Given the description of an element on the screen output the (x, y) to click on. 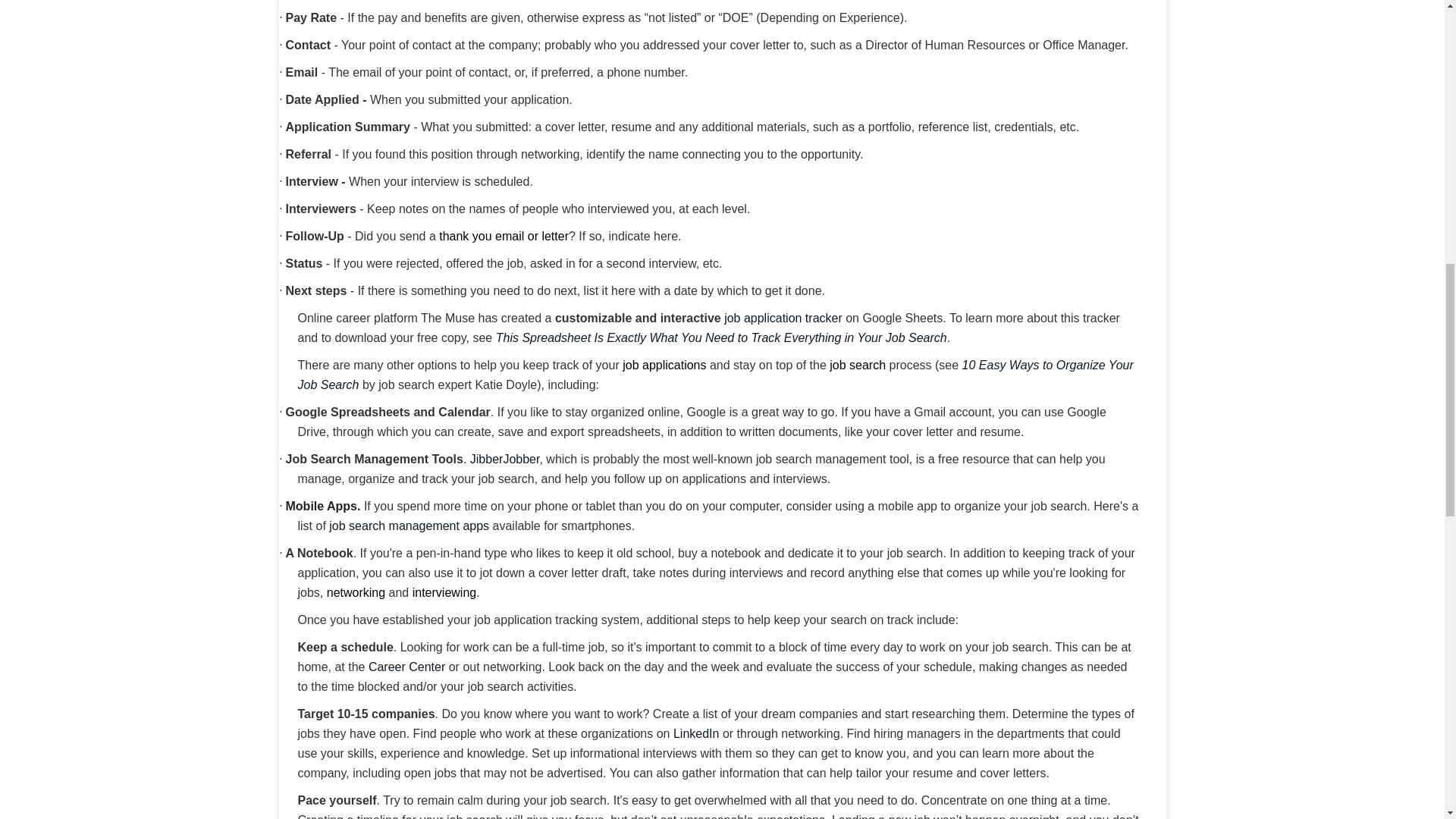
job search management apps (409, 525)
interviewing (444, 592)
10 Easy Ways to Organize Your Job Search (714, 374)
thank you email or letter (504, 236)
LinkedIn (695, 733)
job applications (664, 364)
job application tracker (783, 318)
JibberJobber (505, 459)
networking (355, 592)
job search (857, 364)
Career Center (406, 666)
